Given the description of an element on the screen output the (x, y) to click on. 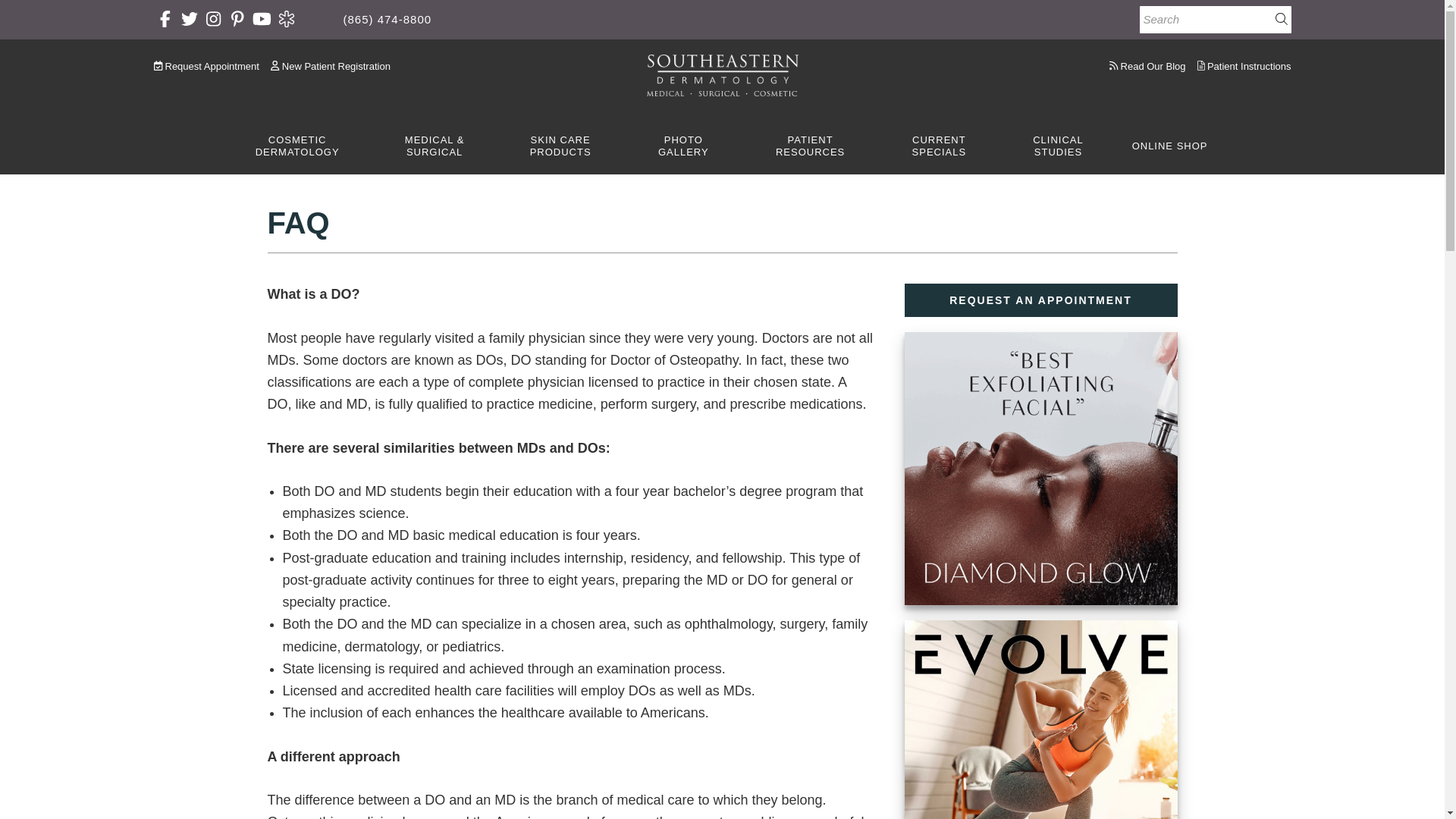
Read Our Blog (1151, 66)
Southeastern Dermatology: Home Page (721, 75)
New Patient Registration (330, 66)
COSMETIC DERMATOLOGY (296, 146)
Patient Instructions (1243, 66)
Request Appointment (209, 66)
